Given the description of an element on the screen output the (x, y) to click on. 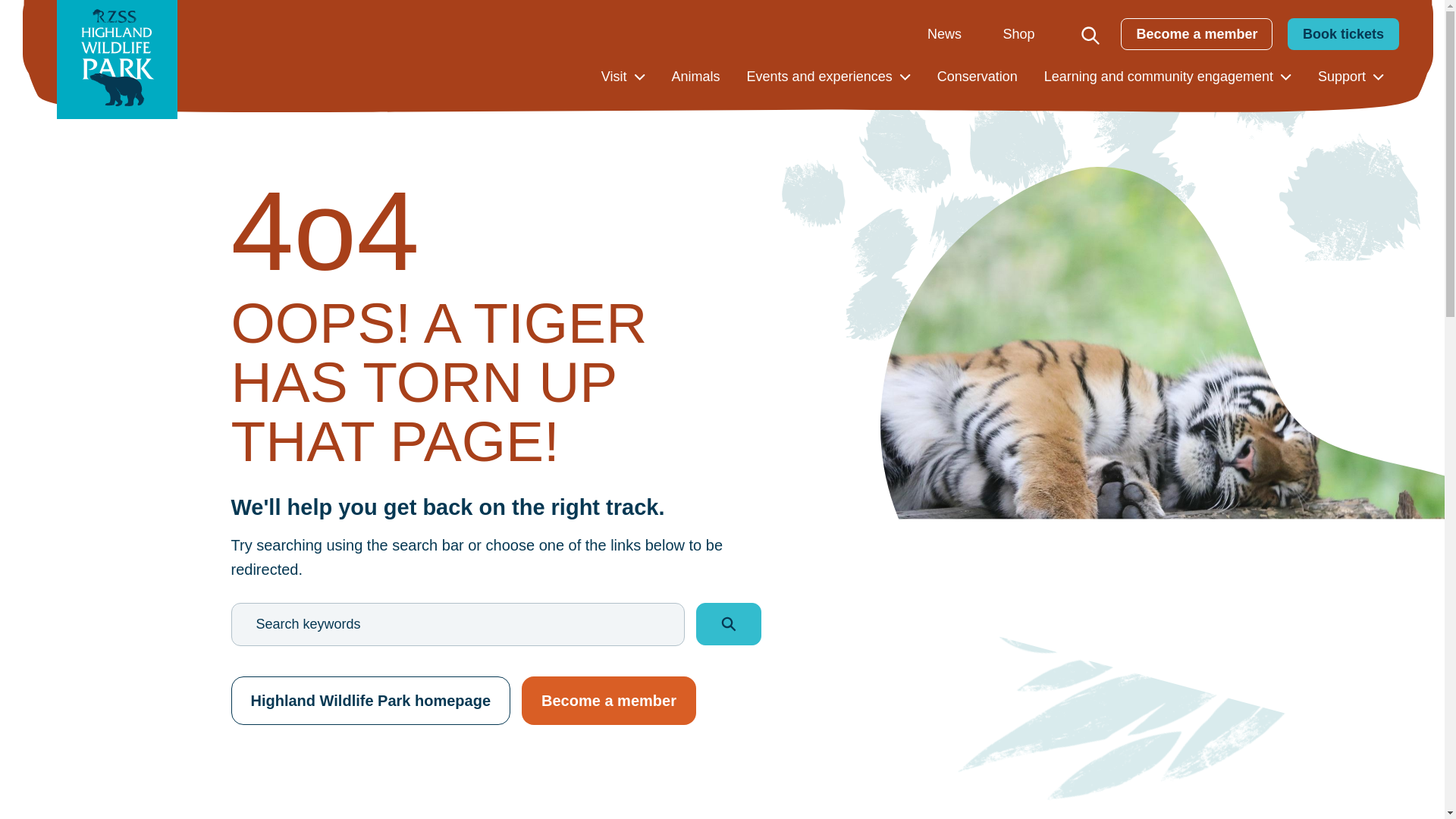
Book tickets (1343, 33)
Site Search (1090, 35)
Animals (695, 76)
Shop (1018, 33)
Submit search (728, 623)
Highland Wildlife Park home (116, 59)
Visit (614, 76)
Become a member (1196, 33)
News (943, 33)
Events and experiences (819, 76)
